Given the description of an element on the screen output the (x, y) to click on. 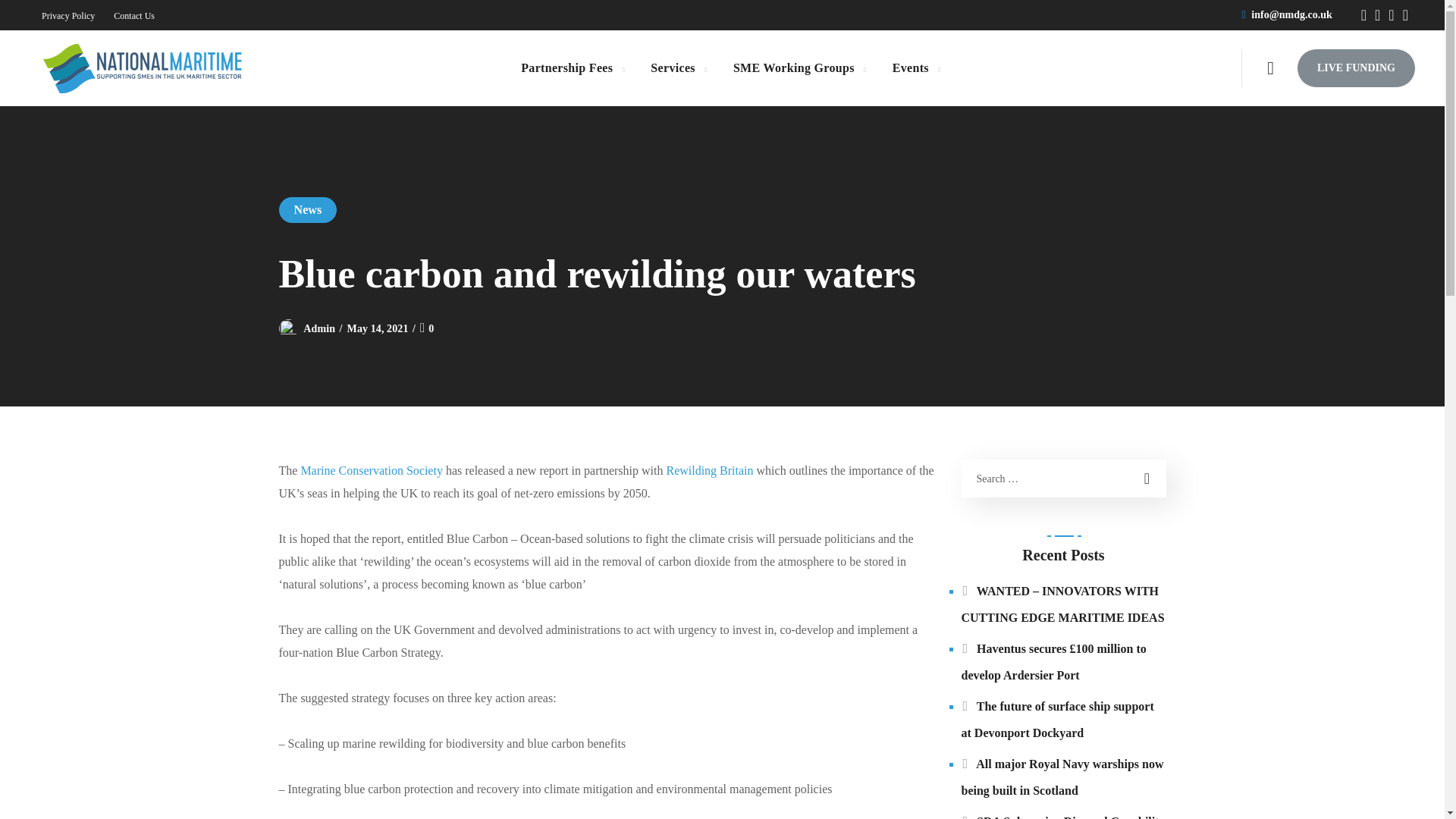
Partnership Fees (571, 68)
Events (916, 68)
Services (678, 68)
Privacy Policy (68, 15)
SME Working Groups (799, 68)
Contact Us (133, 15)
